Given the description of an element on the screen output the (x, y) to click on. 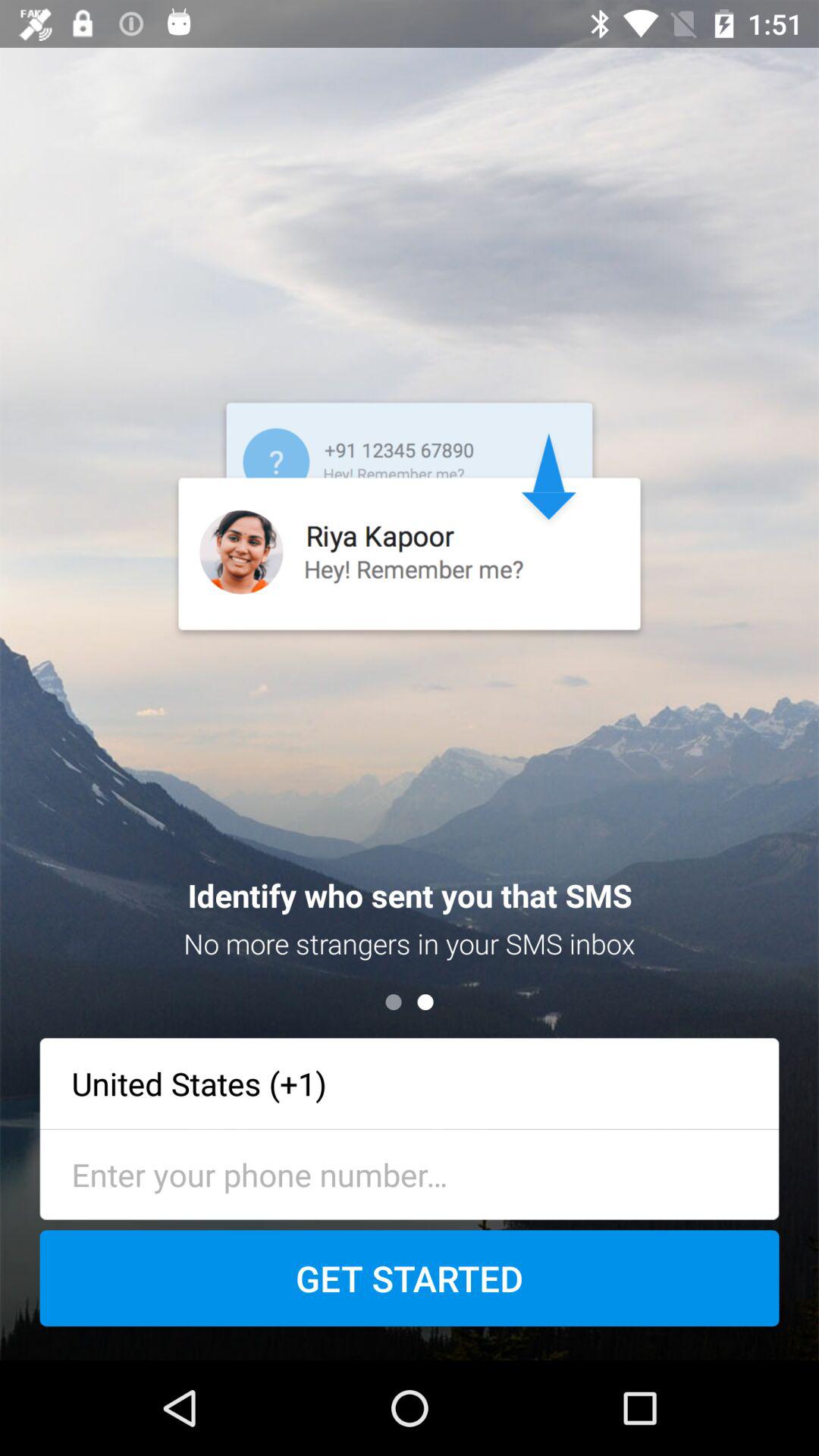
type phone number (409, 1173)
